Given the description of an element on the screen output the (x, y) to click on. 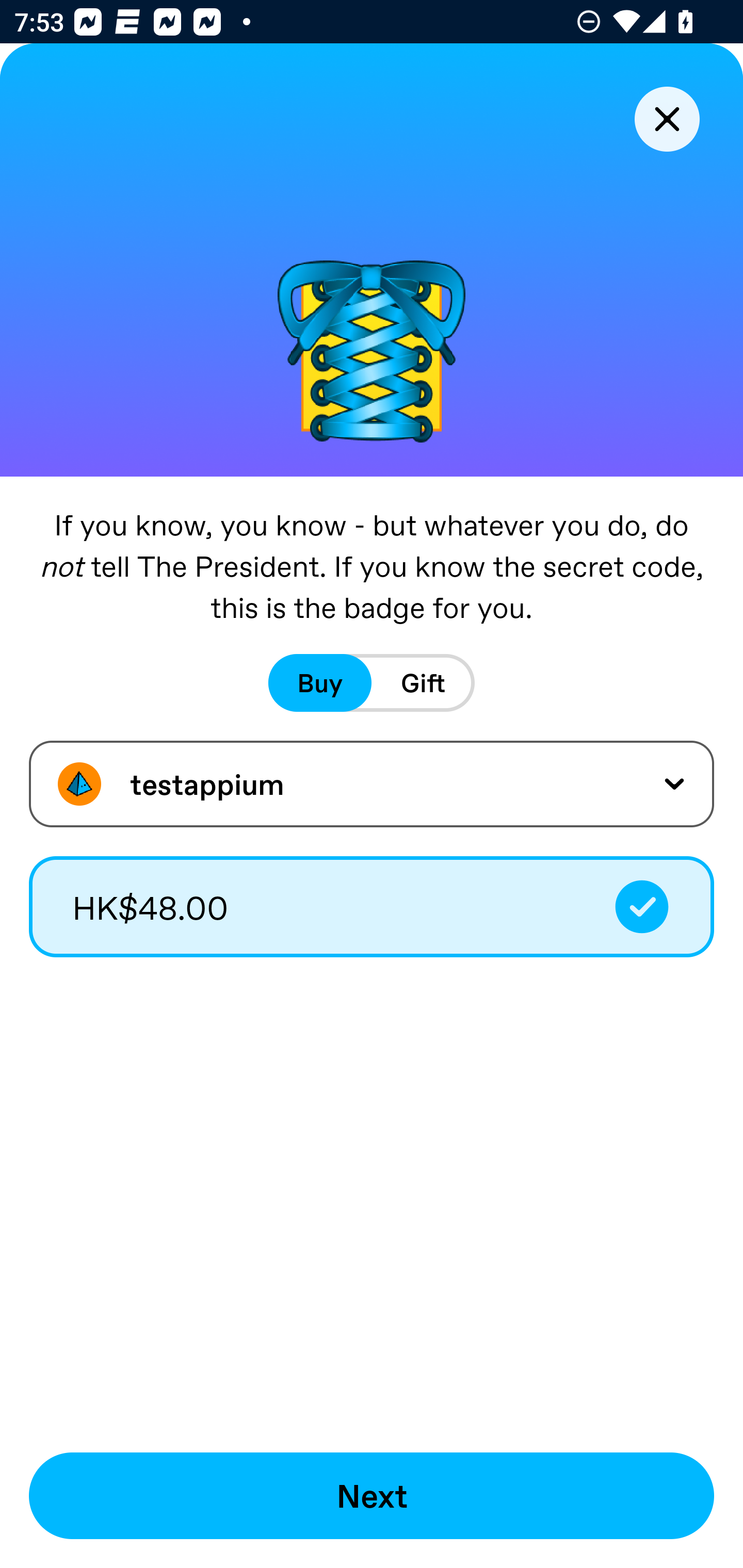
Buy (319, 682)
Gift (423, 682)
testappium (371, 783)
Next (371, 1495)
